Given the description of an element on the screen output the (x, y) to click on. 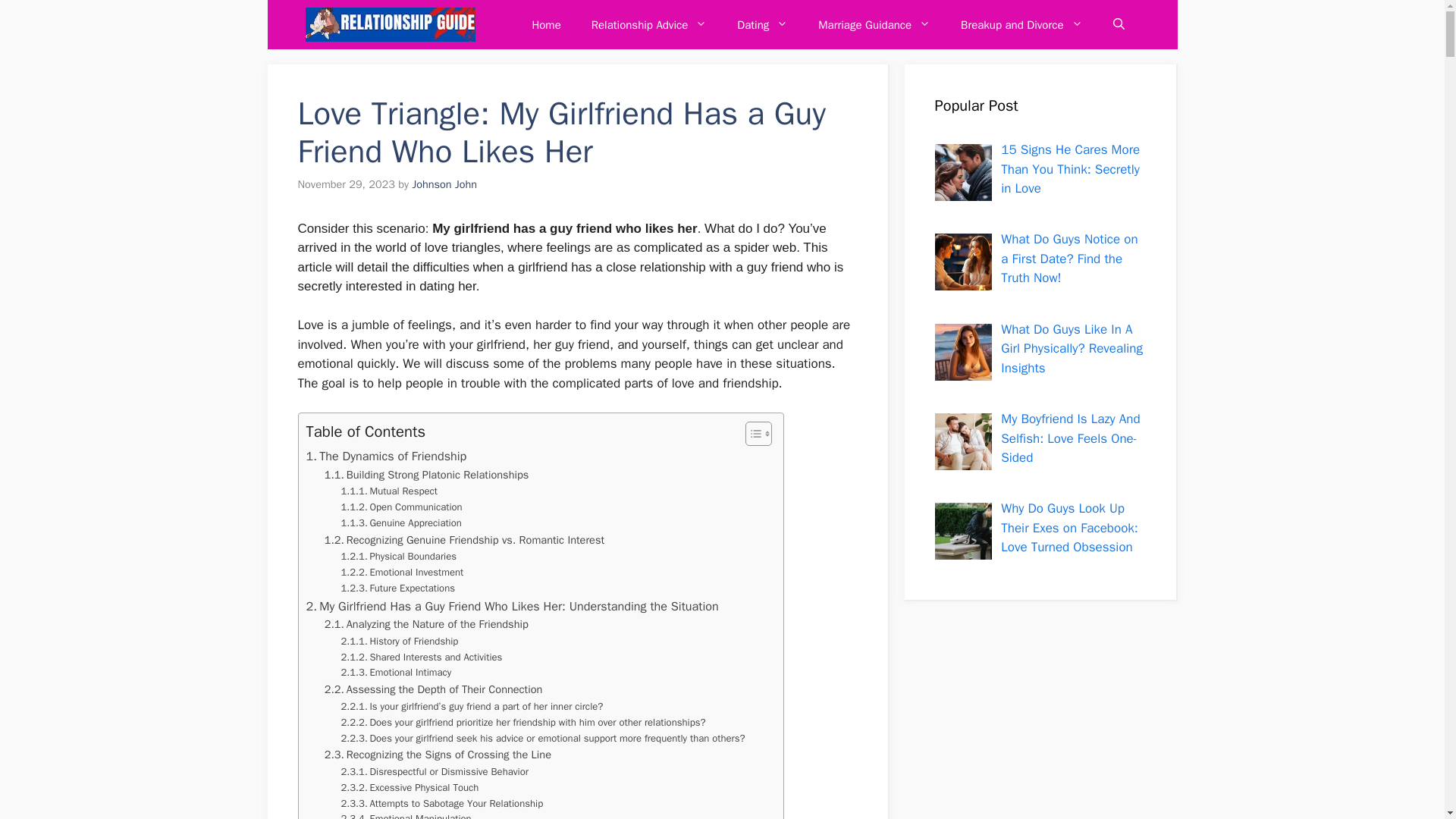
Mutual Respect (389, 491)
Shared Interests and Activities (421, 657)
Dating (762, 23)
Breakup and Divorce (1020, 23)
Emotional Investment (402, 572)
Relationship Guide (389, 24)
Assessing the Depth of Their Connection (433, 689)
Open Communication (401, 507)
Physical Boundaries (398, 556)
